Given the description of an element on the screen output the (x, y) to click on. 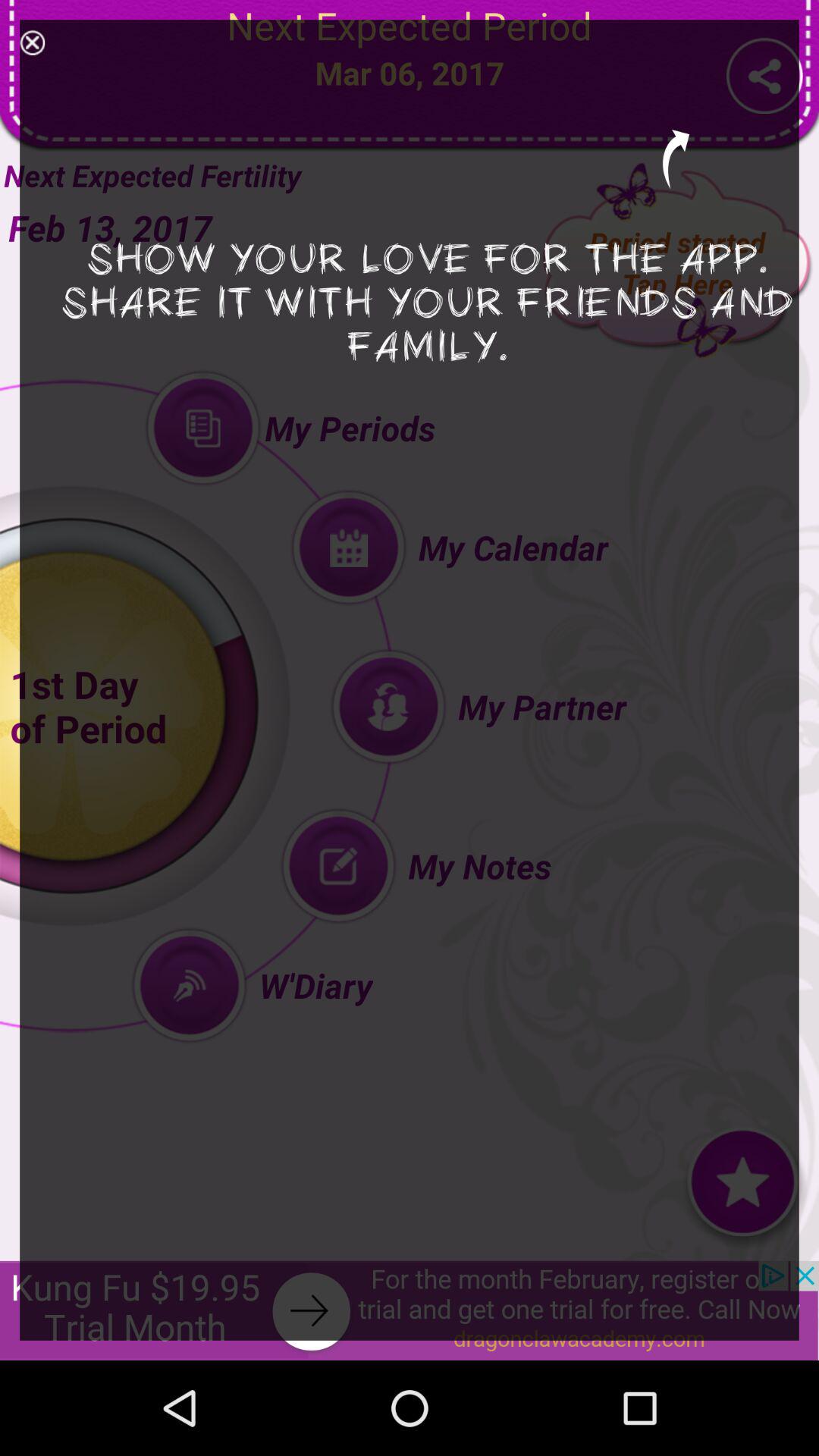
close window (31, 42)
